Given the description of an element on the screen output the (x, y) to click on. 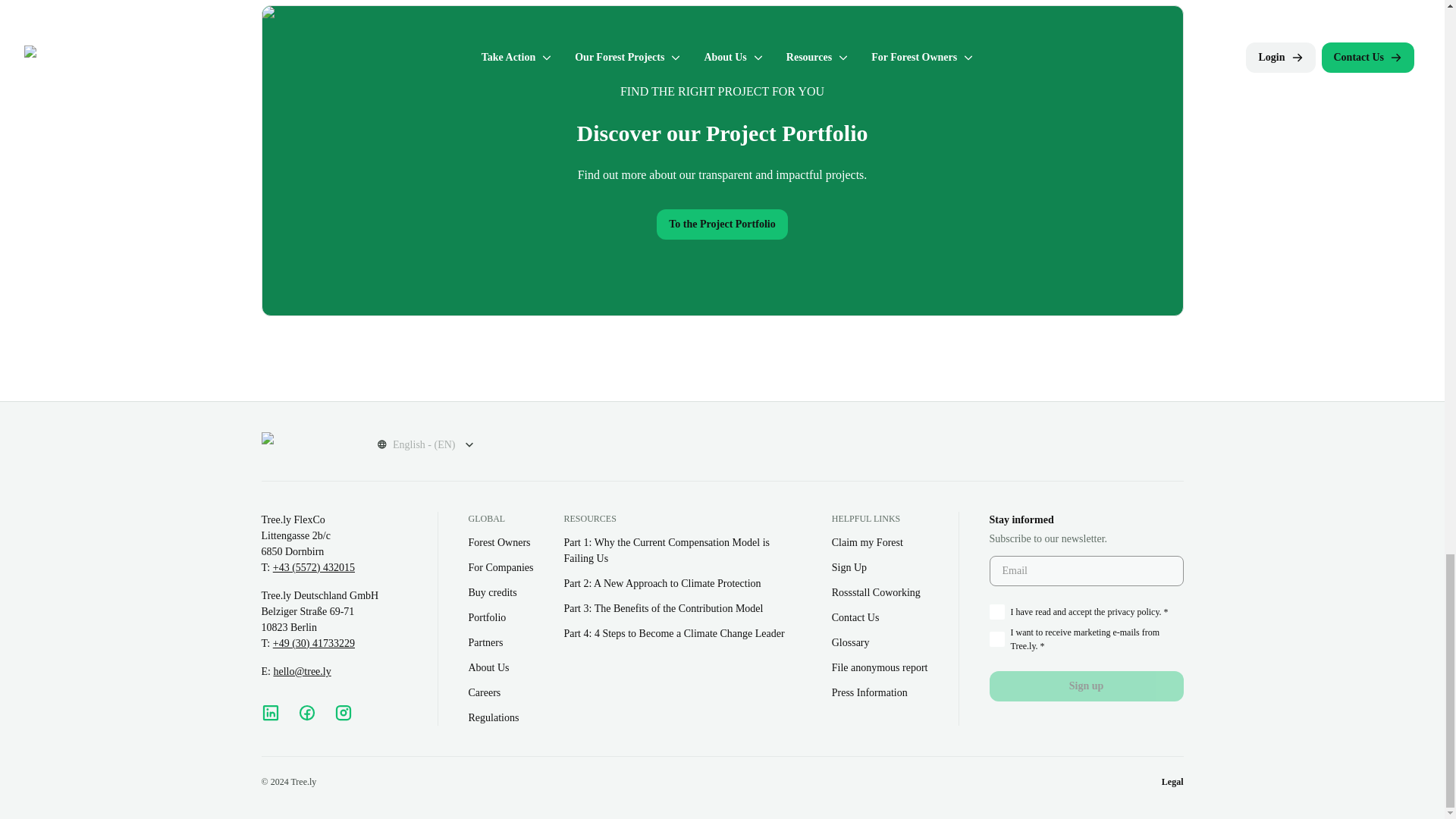
Forest Owners (501, 542)
To the Project Portfolio (721, 224)
